Given the description of an element on the screen output the (x, y) to click on. 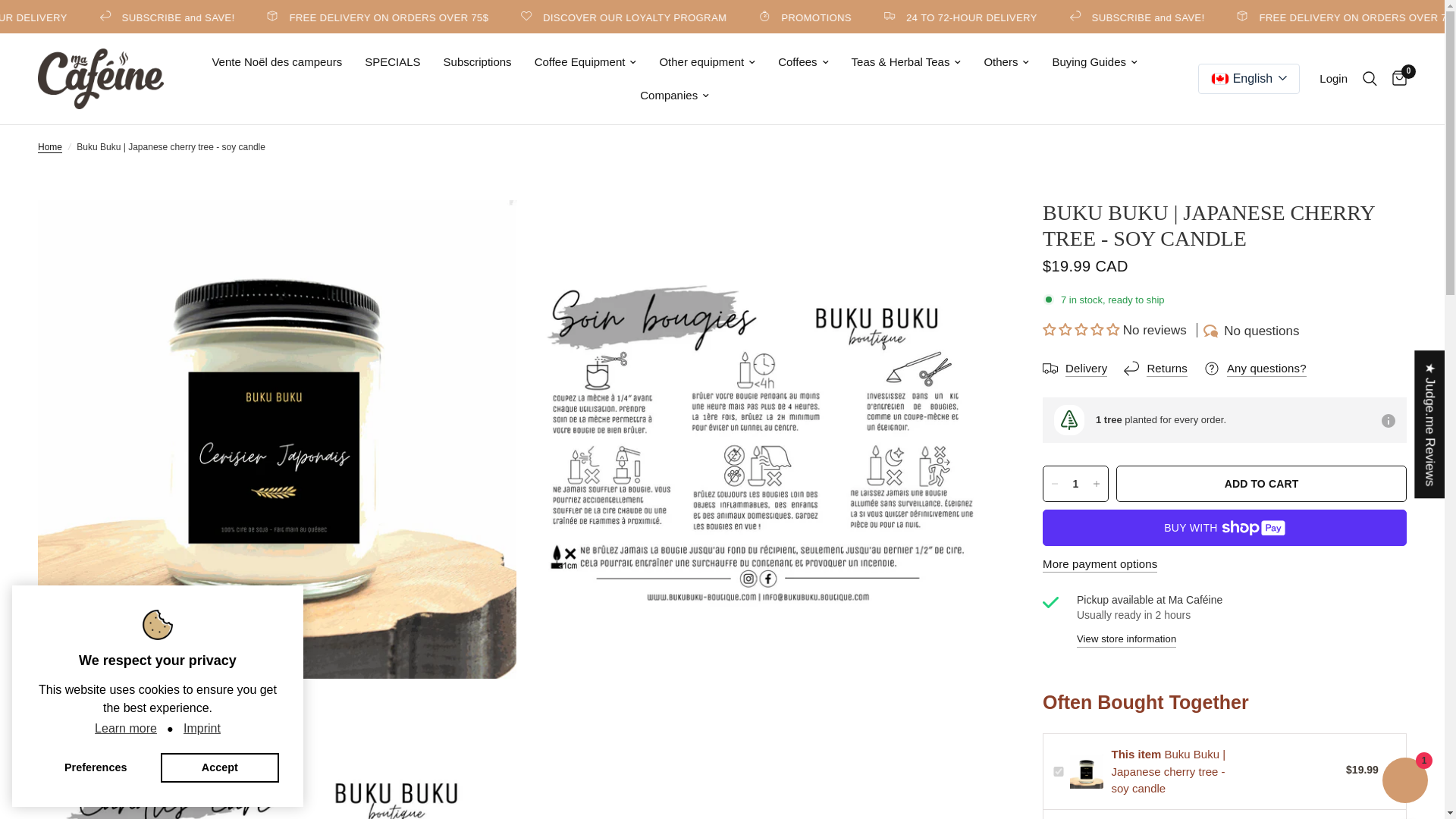
Accept (219, 767)
DISCOVER OUR LOYALTY PROGRAM (742, 16)
24 TO 72-HOUR DELIVERY (1076, 16)
24 TO 72-HOUR DELIVERY (111, 16)
PROMOTIONS (922, 16)
Imprint (201, 728)
Preferences (95, 767)
Learn more (125, 728)
SUBSCRIBE and SAVE! (287, 16)
SUBSCRIBE and SAVE! (1253, 16)
